Given the description of an element on the screen output the (x, y) to click on. 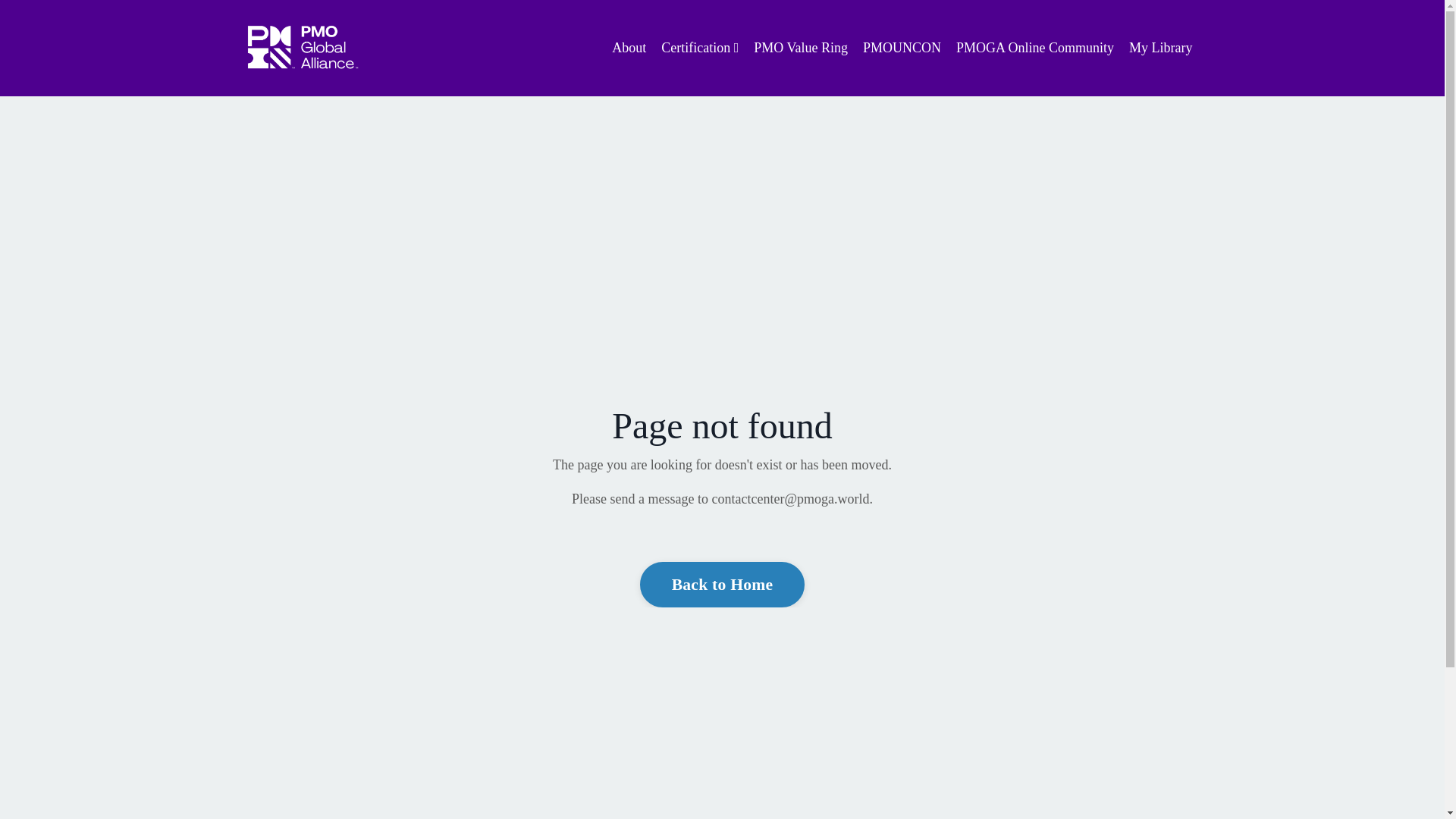
PMOUNCON (901, 47)
Back to Home (722, 584)
My Library (1160, 47)
PMO Value Ring (800, 47)
PMOGA Online Community (1034, 47)
About (628, 47)
